Given the description of an element on the screen output the (x, y) to click on. 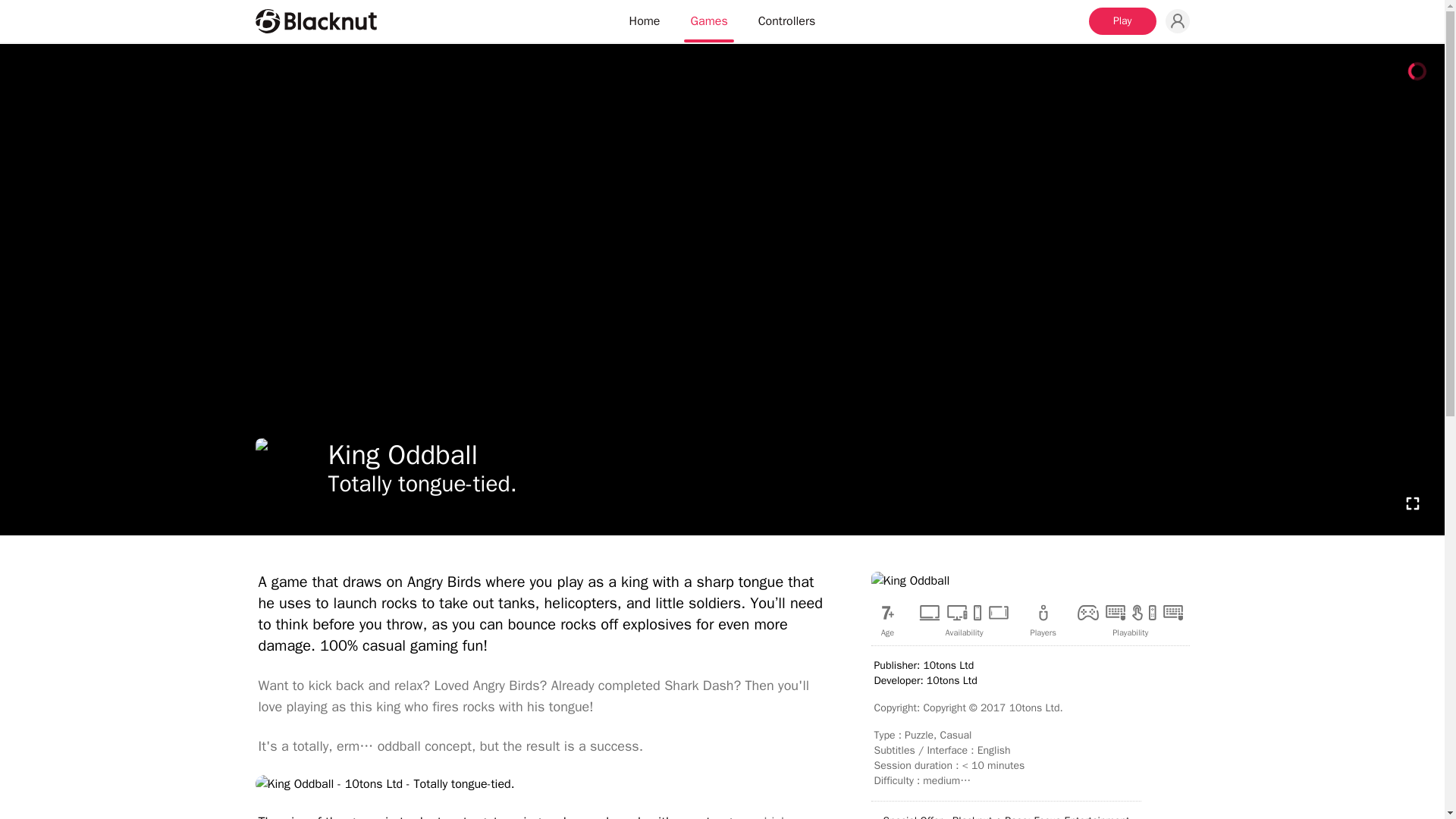
Controllers (787, 21)
Home (644, 21)
Games (708, 21)
